Given the description of an element on the screen output the (x, y) to click on. 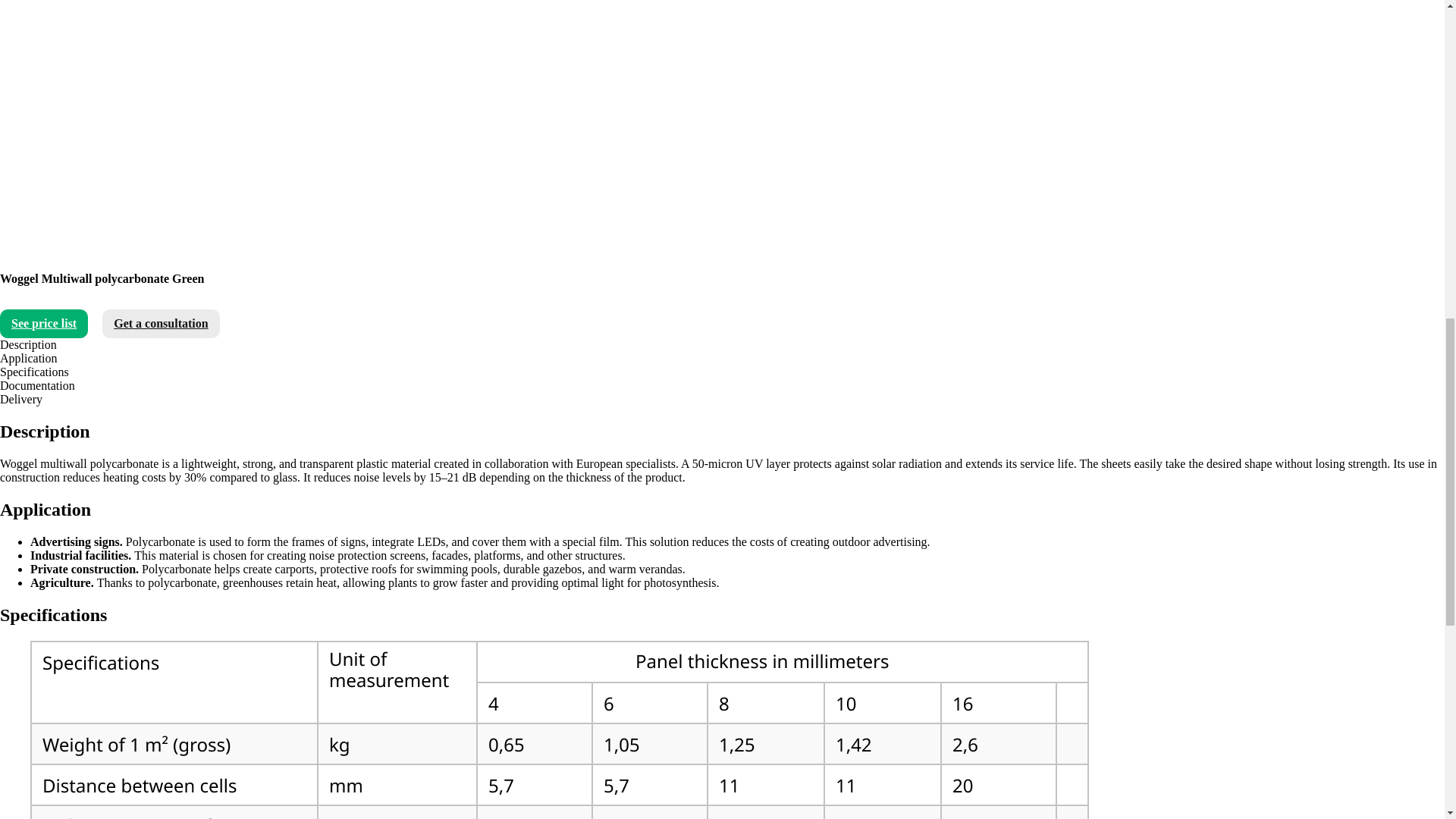
Get a consultation (160, 323)
See price list (43, 323)
